Given the description of an element on the screen output the (x, y) to click on. 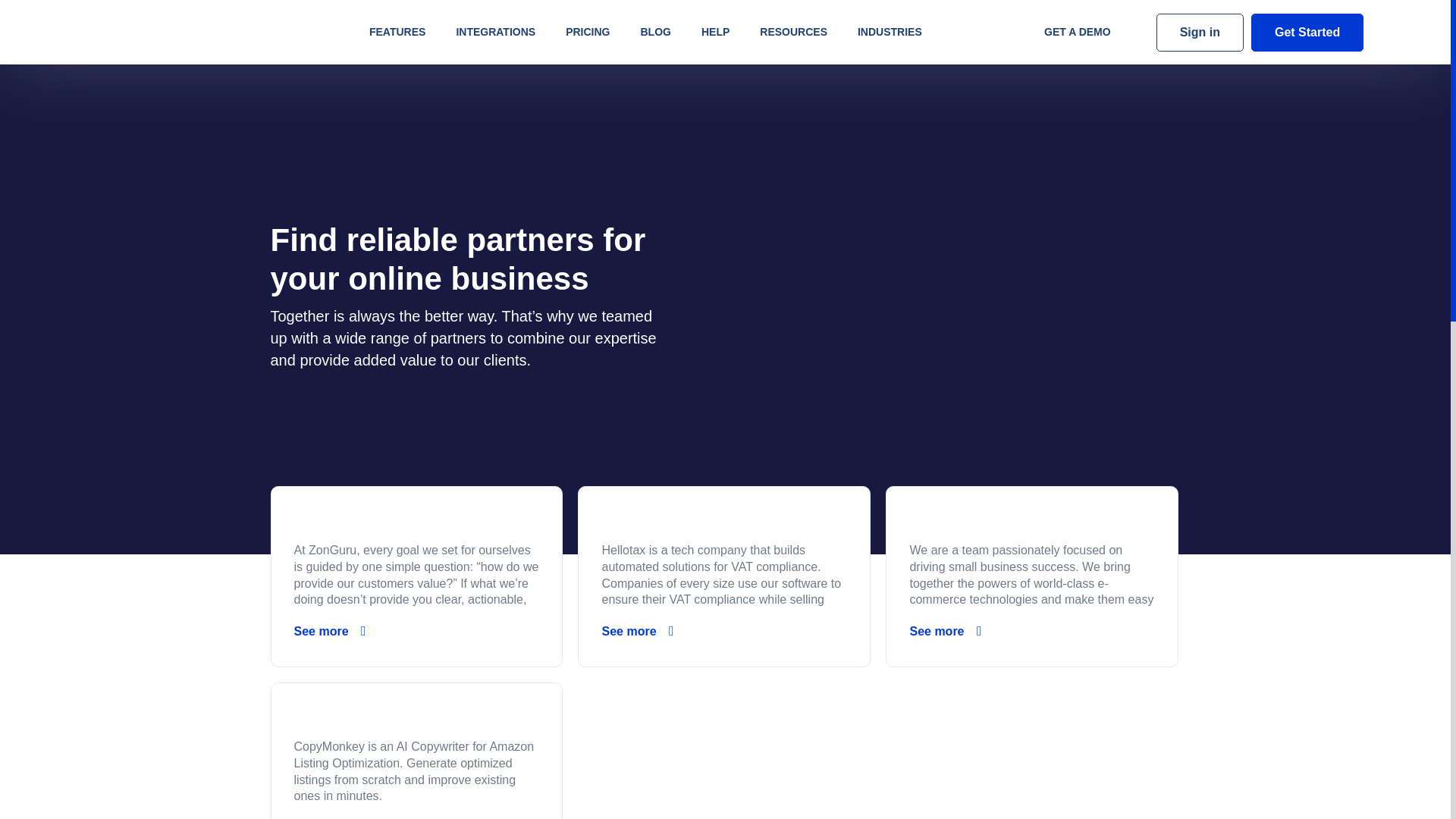
PRICING (587, 31)
BLOG (654, 31)
RESOURCES (793, 31)
HELP (714, 31)
Get Started (1306, 32)
FEATURES (397, 31)
INTEGRATIONS (495, 31)
Sign in (1199, 32)
